Given the description of an element on the screen output the (x, y) to click on. 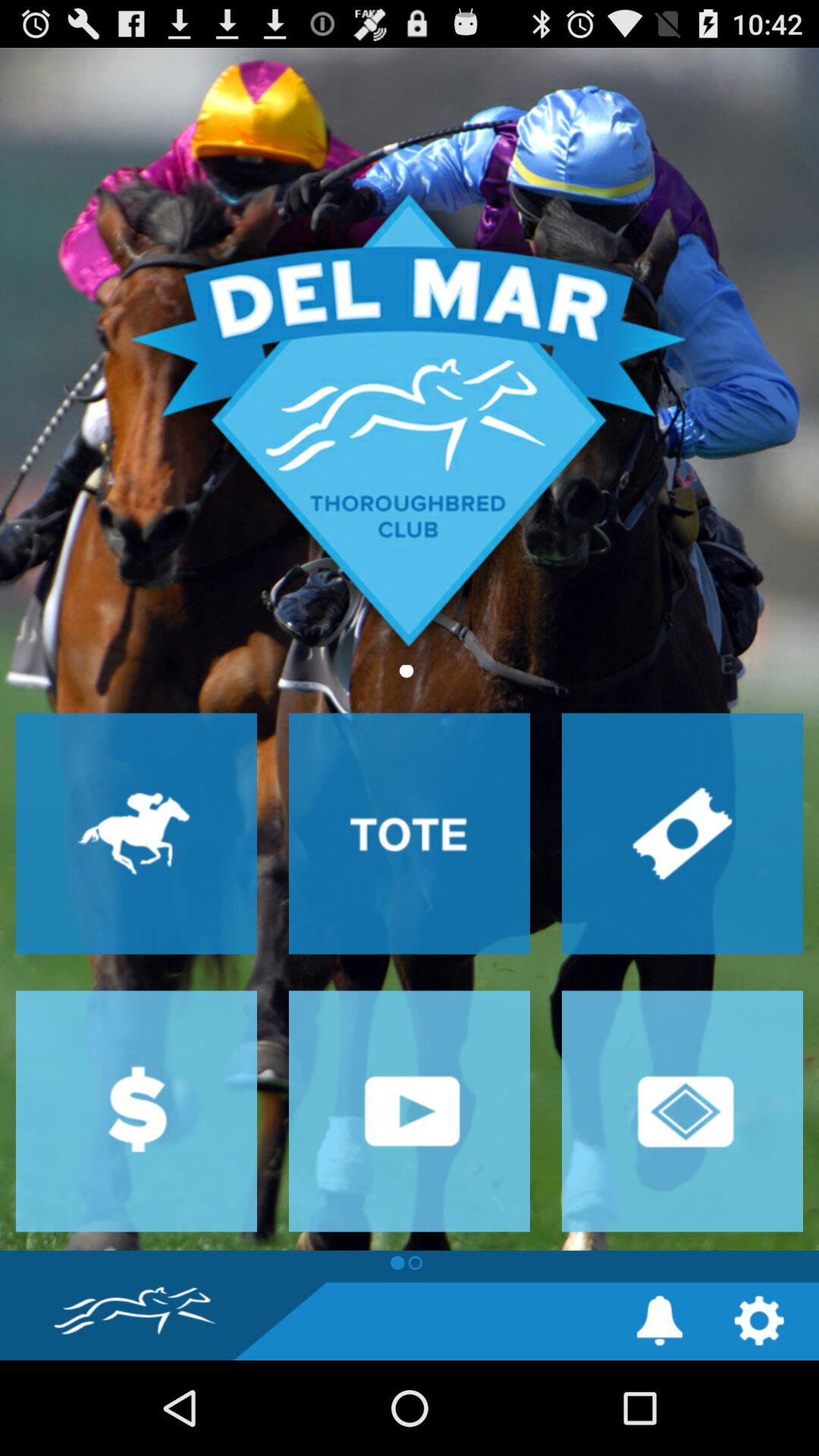
go to memberships (682, 1111)
